Given the description of an element on the screen output the (x, y) to click on. 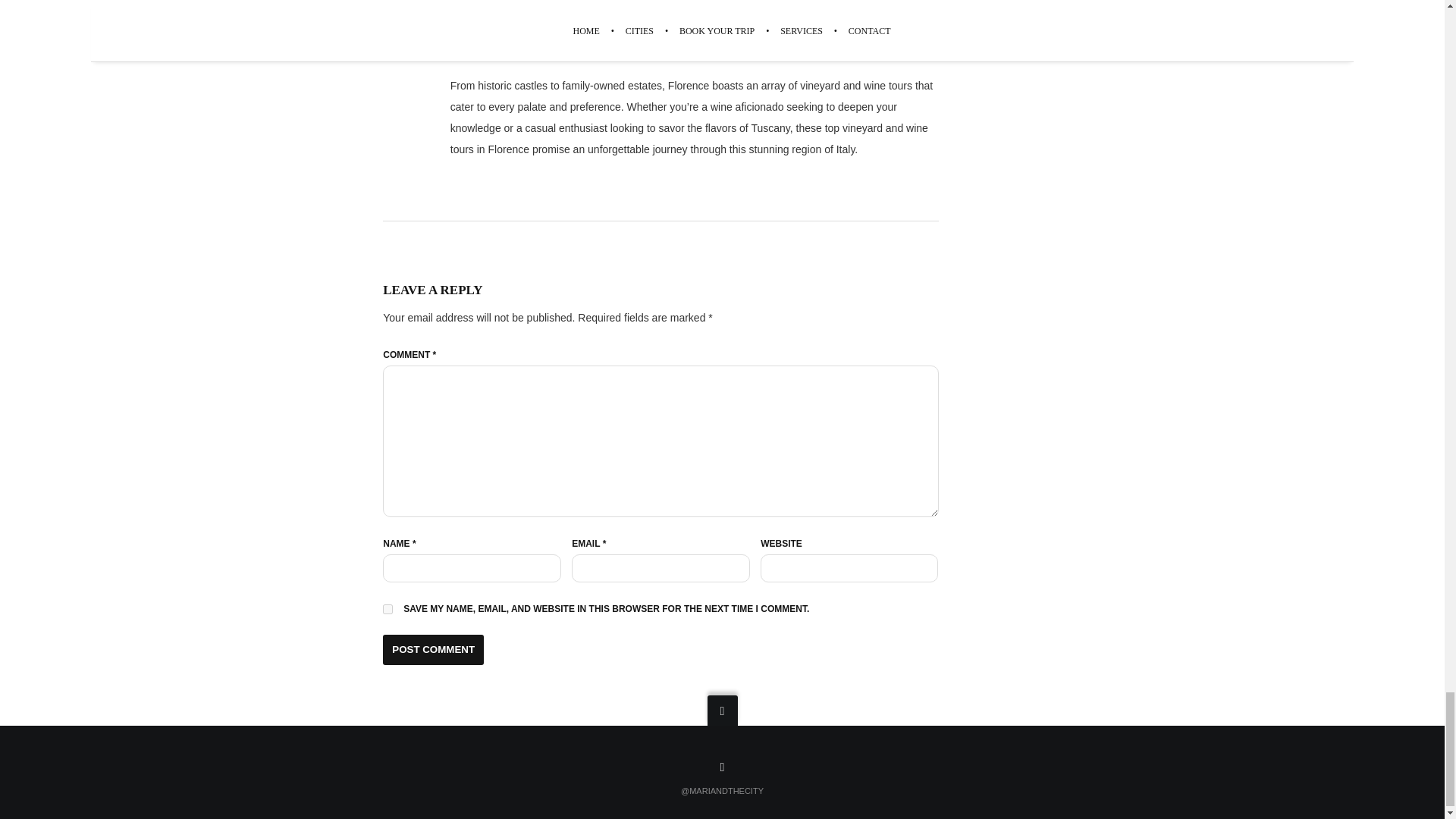
Post Comment (432, 649)
yes (387, 609)
